Given the description of an element on the screen output the (x, y) to click on. 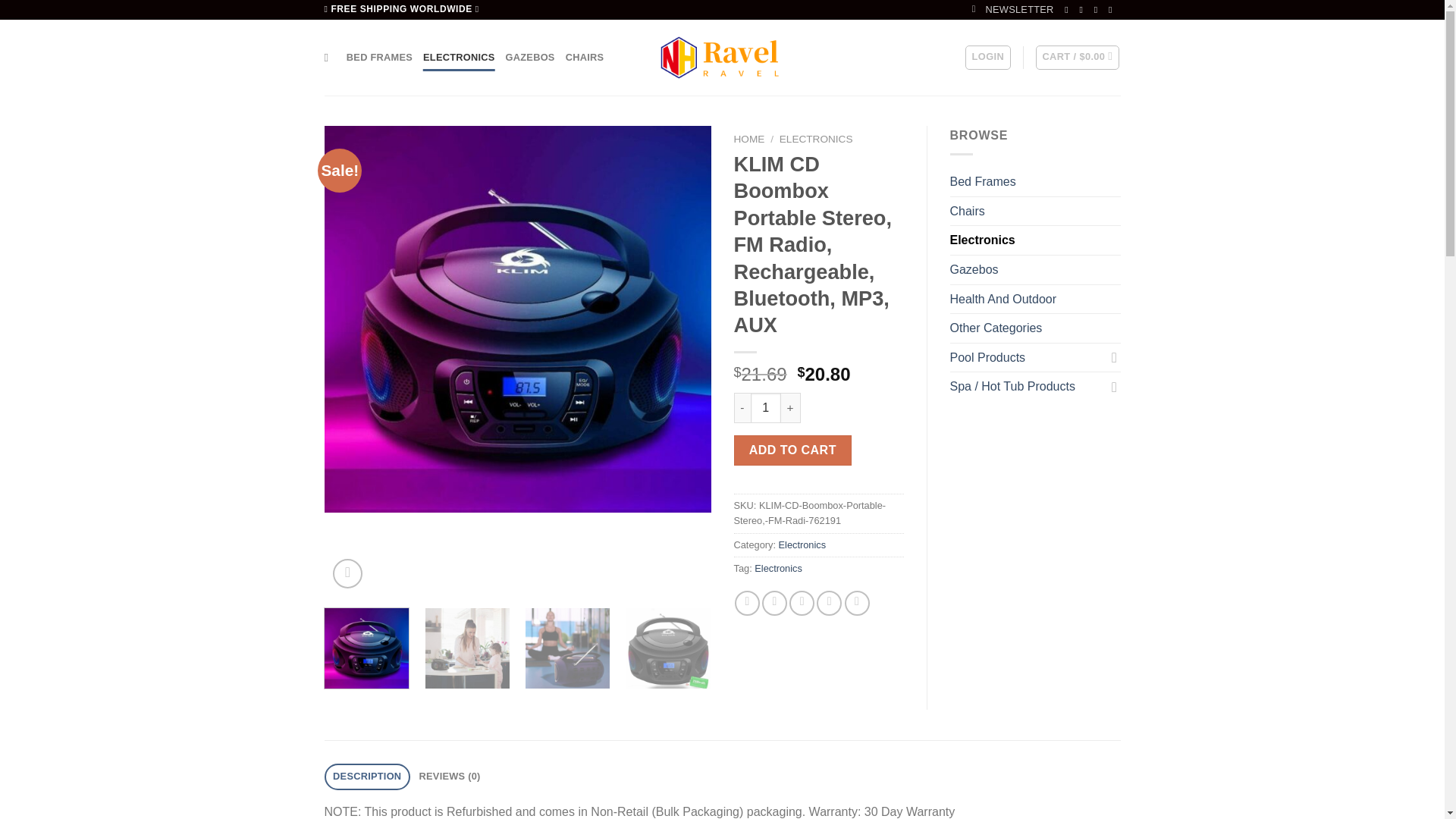
ADD TO CART (792, 450)
LOGIN (987, 57)
ELECTRONICS (459, 57)
BED FRAMES (379, 57)
Sign up for Newsletter (1013, 9)
COOLTRAVELGEAR (722, 57)
GAZEBOS (529, 57)
ELECTRONICS (815, 138)
CHAIRS (585, 57)
Cart (1077, 57)
